Given the description of an element on the screen output the (x, y) to click on. 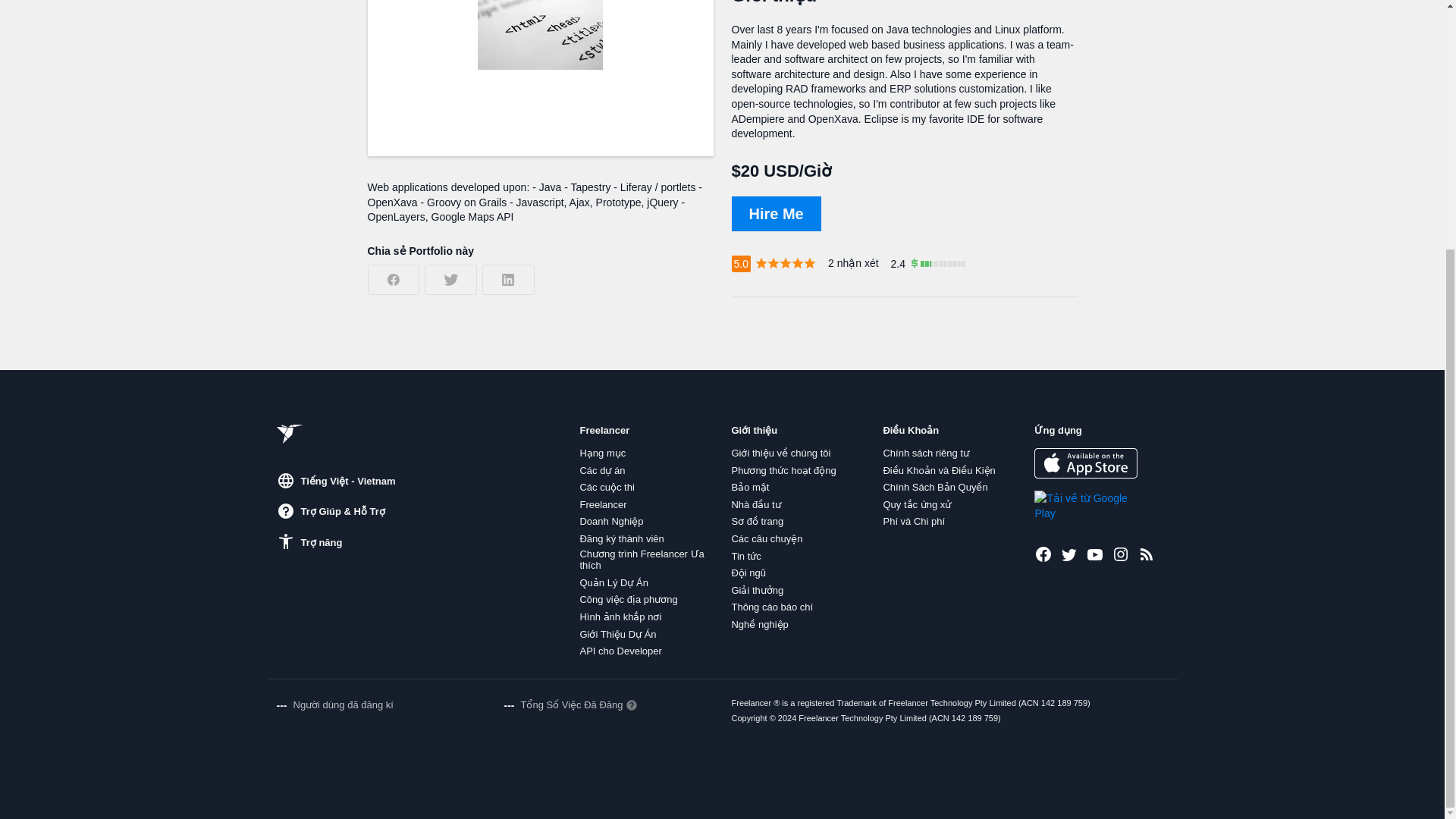
Hire Me (775, 213)
API cho Developer (620, 651)
Freelancer (602, 504)
